Given the description of an element on the screen output the (x, y) to click on. 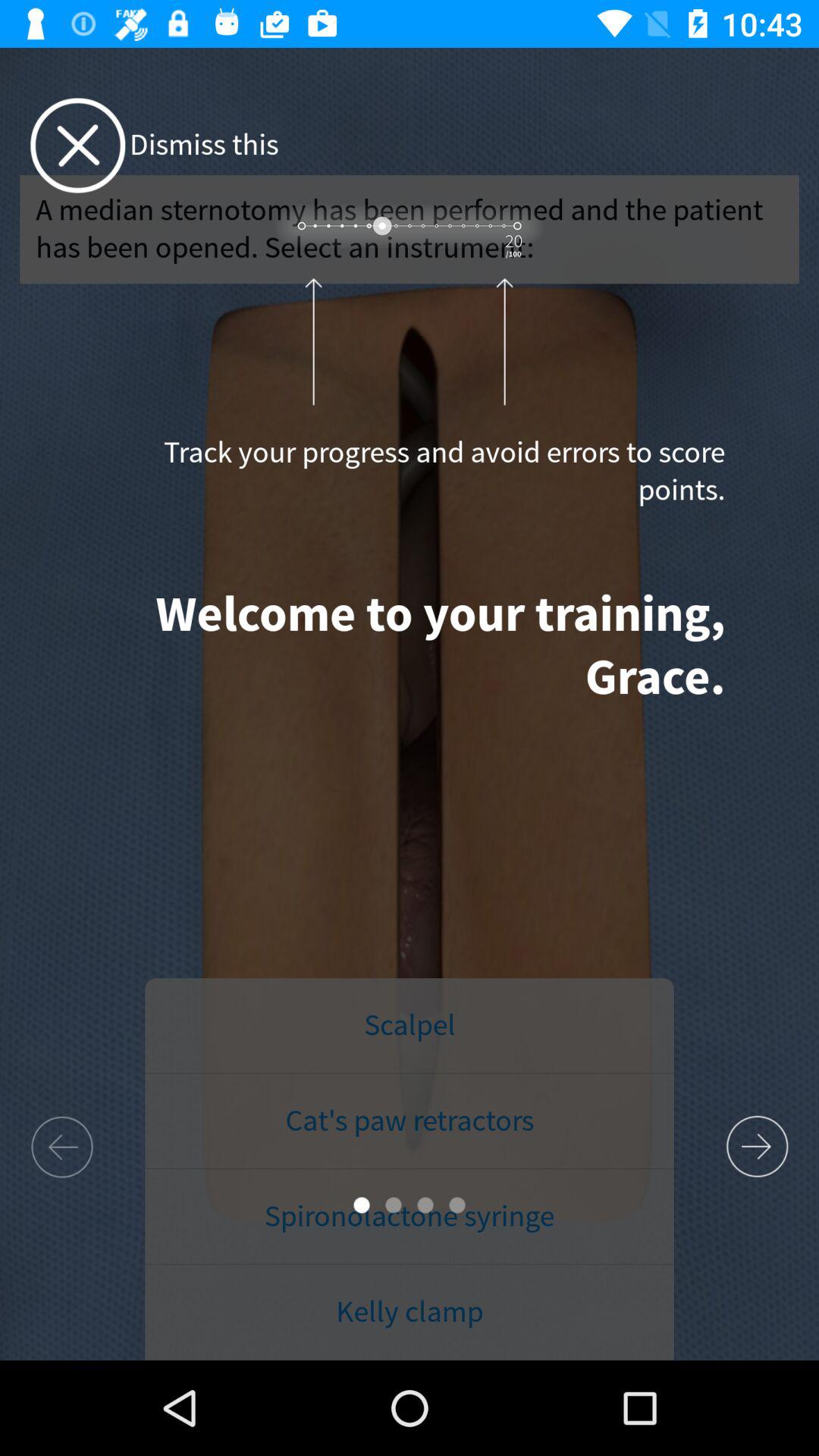
flip until spironolactone syringe icon (409, 1216)
